Given the description of an element on the screen output the (x, y) to click on. 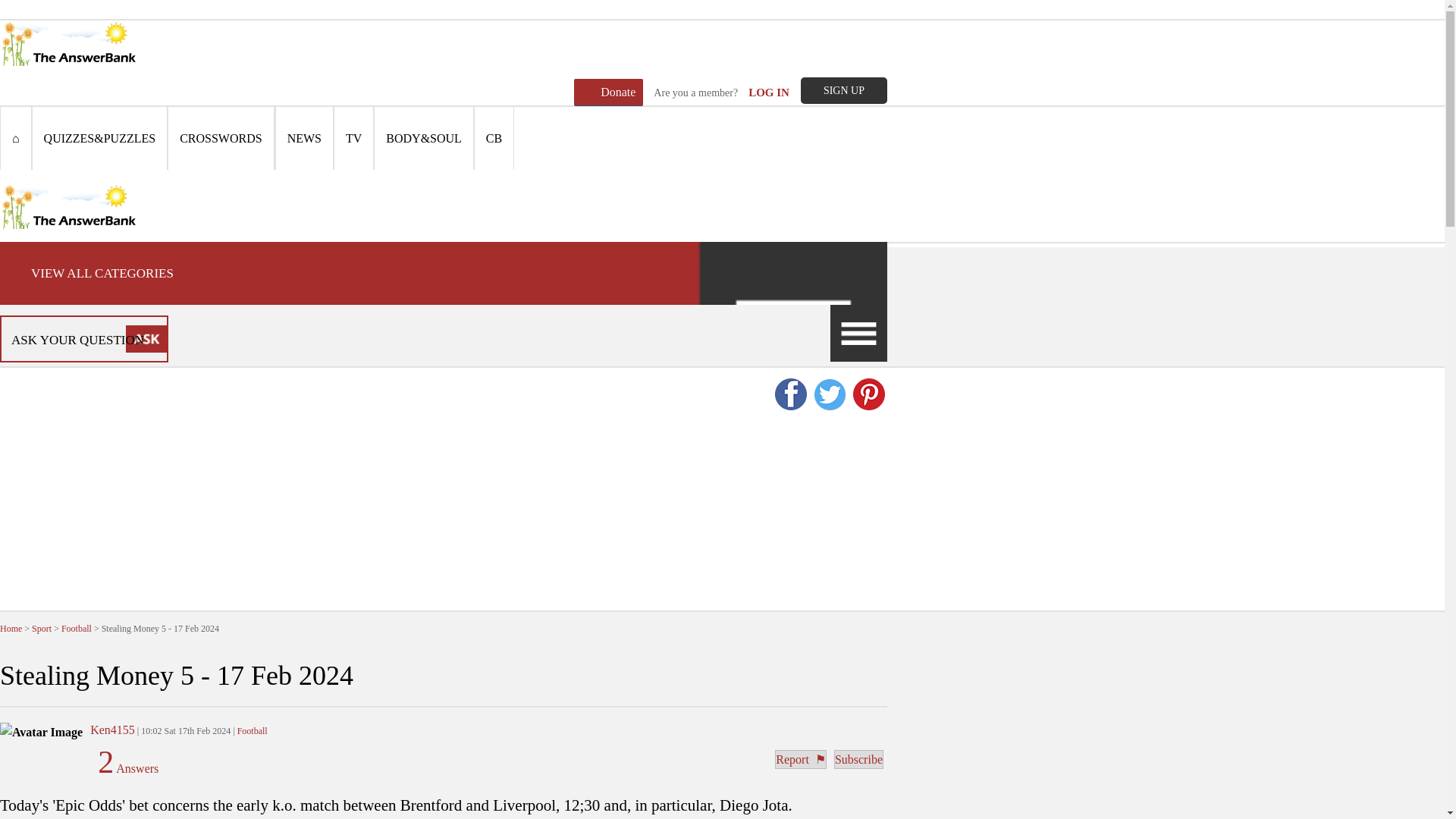
LOG IN (768, 92)
See public member profile (41, 732)
Welcome To The AnswerBank (69, 206)
See public member profile (112, 729)
SIGN UP (843, 90)
Welcome To The AnswerBank (69, 43)
CROSSWORDS (221, 138)
NEWS (304, 138)
Donate (608, 91)
